Given the description of an element on the screen output the (x, y) to click on. 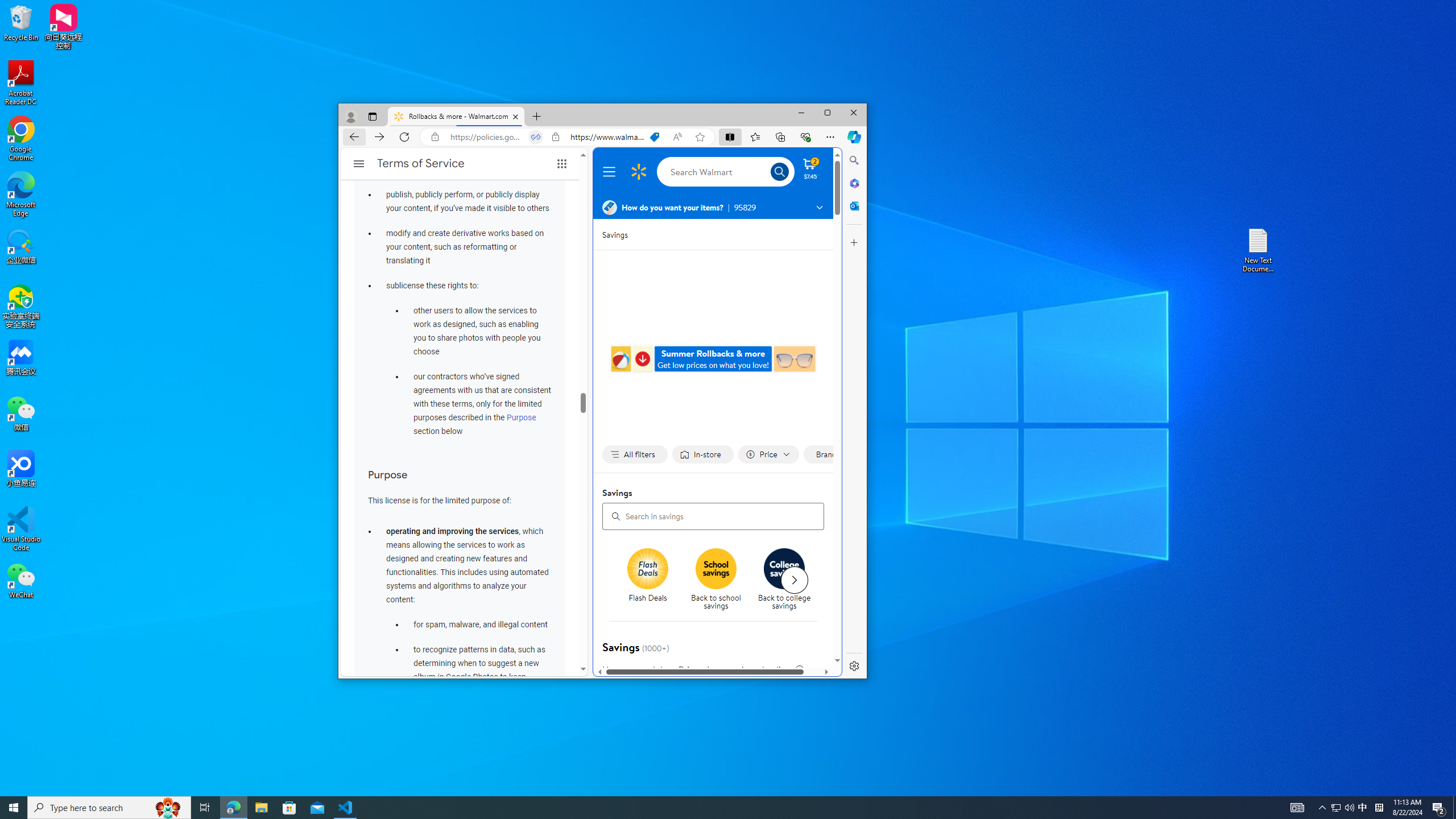
User Promoted Notification Area (1342, 807)
Acrobat Reader DC (21, 82)
Walmart Homepage (637, 171)
File Explorer (261, 807)
Cart contains 2 items Total Amount $7.45 (810, 168)
Tray Input Indicator - Chinese (Simplified, China) (1378, 807)
Savings (614, 233)
All filters none applied, activate to change (635, 454)
